Given the description of an element on the screen output the (x, y) to click on. 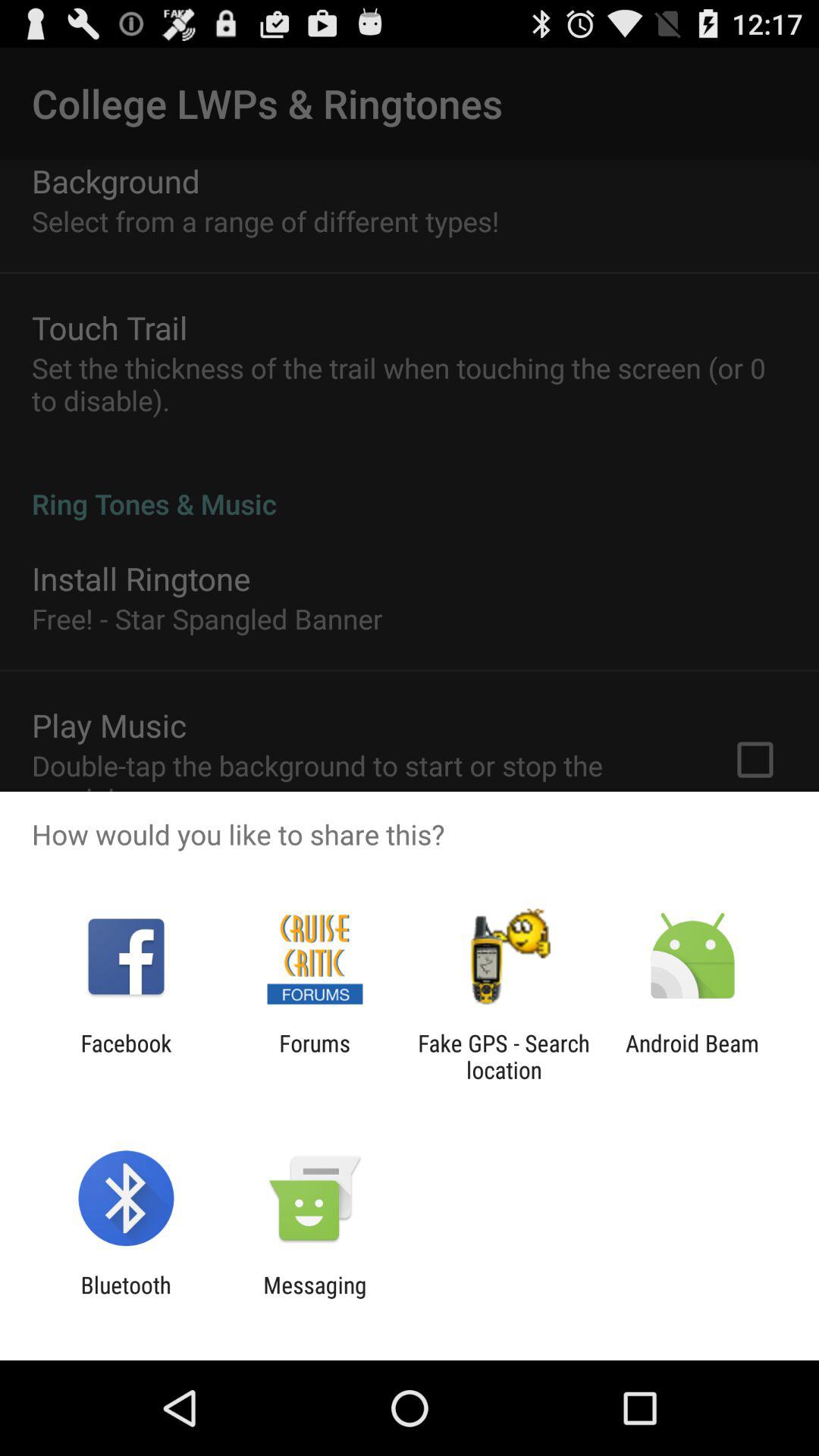
select the icon to the left of the forums icon (125, 1056)
